Given the description of an element on the screen output the (x, y) to click on. 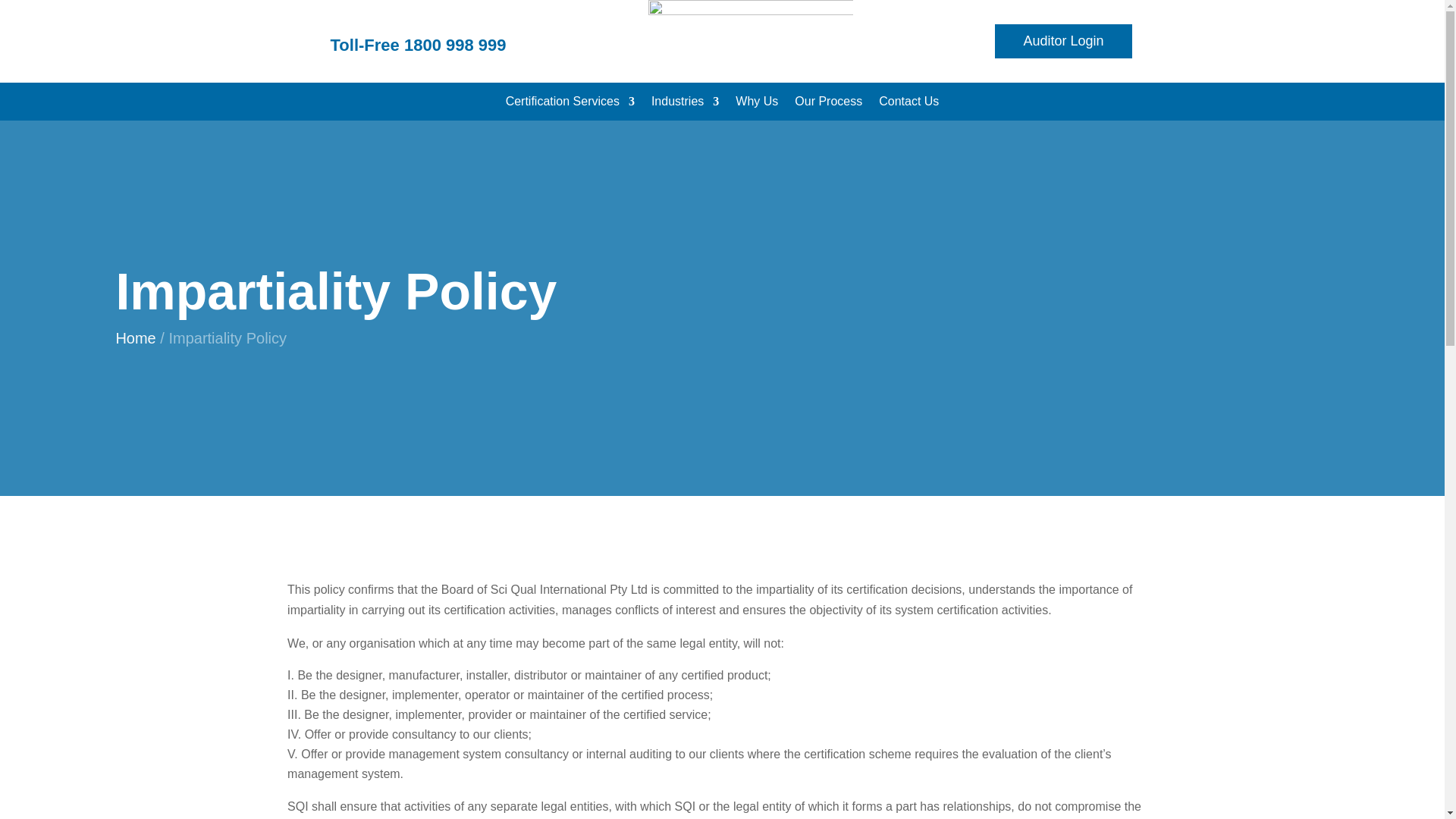
Sci Qual logo (750, 35)
Why Us (756, 104)
Toll-Free 1800 998 999 (418, 45)
Auditor Login (1062, 41)
Industries (684, 104)
Certification Services (569, 104)
